Given the description of an element on the screen output the (x, y) to click on. 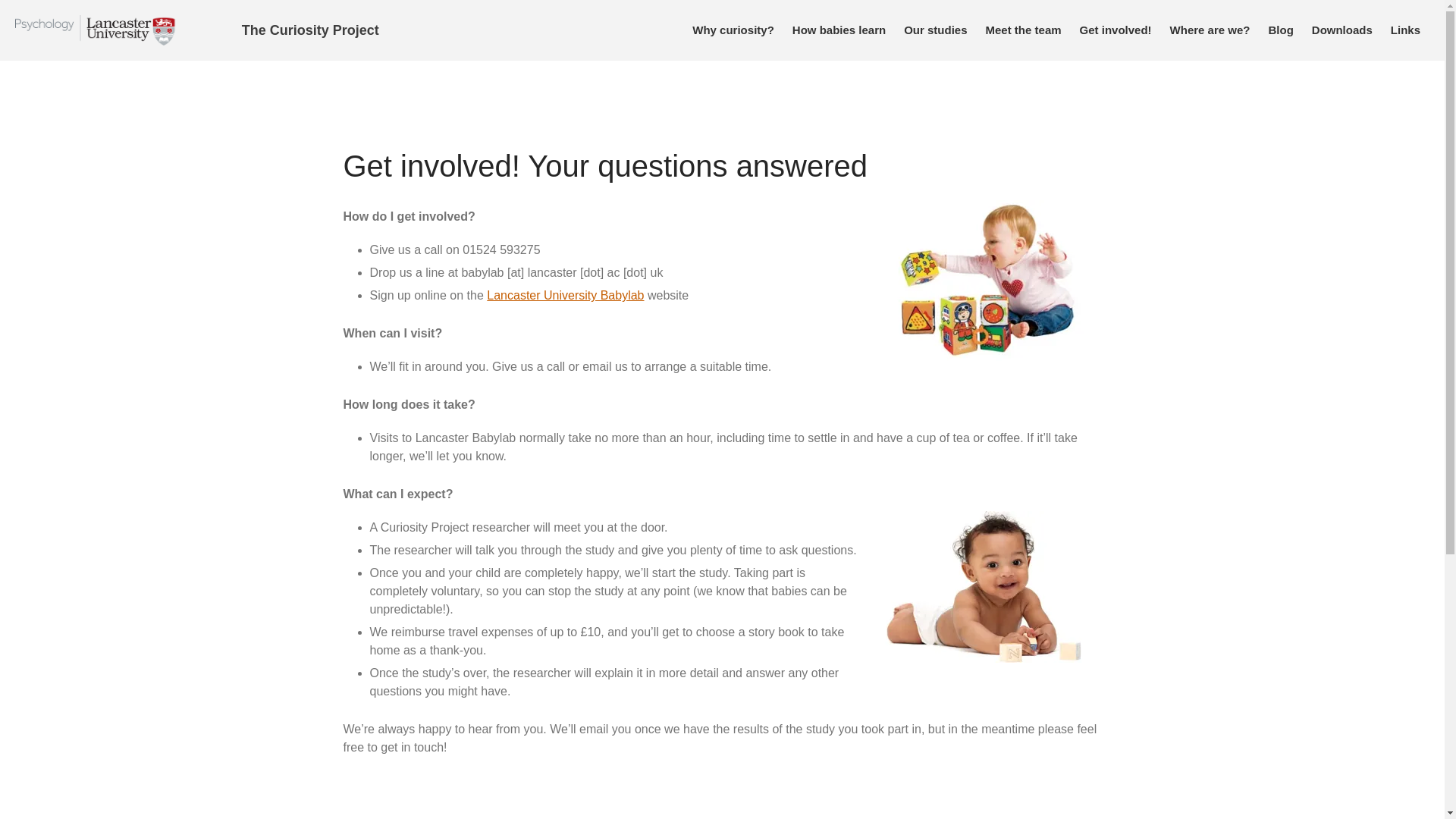
Get involved! (1114, 29)
Blog (1280, 29)
Lancaster University Babylab (564, 295)
Our studies (935, 29)
Meet the team (1023, 29)
The Curiosity Project (309, 29)
How babies learn (838, 29)
Links (1405, 29)
Where are we? (1209, 29)
Downloads (1342, 29)
Why curiosity? (732, 29)
